Given the description of an element on the screen output the (x, y) to click on. 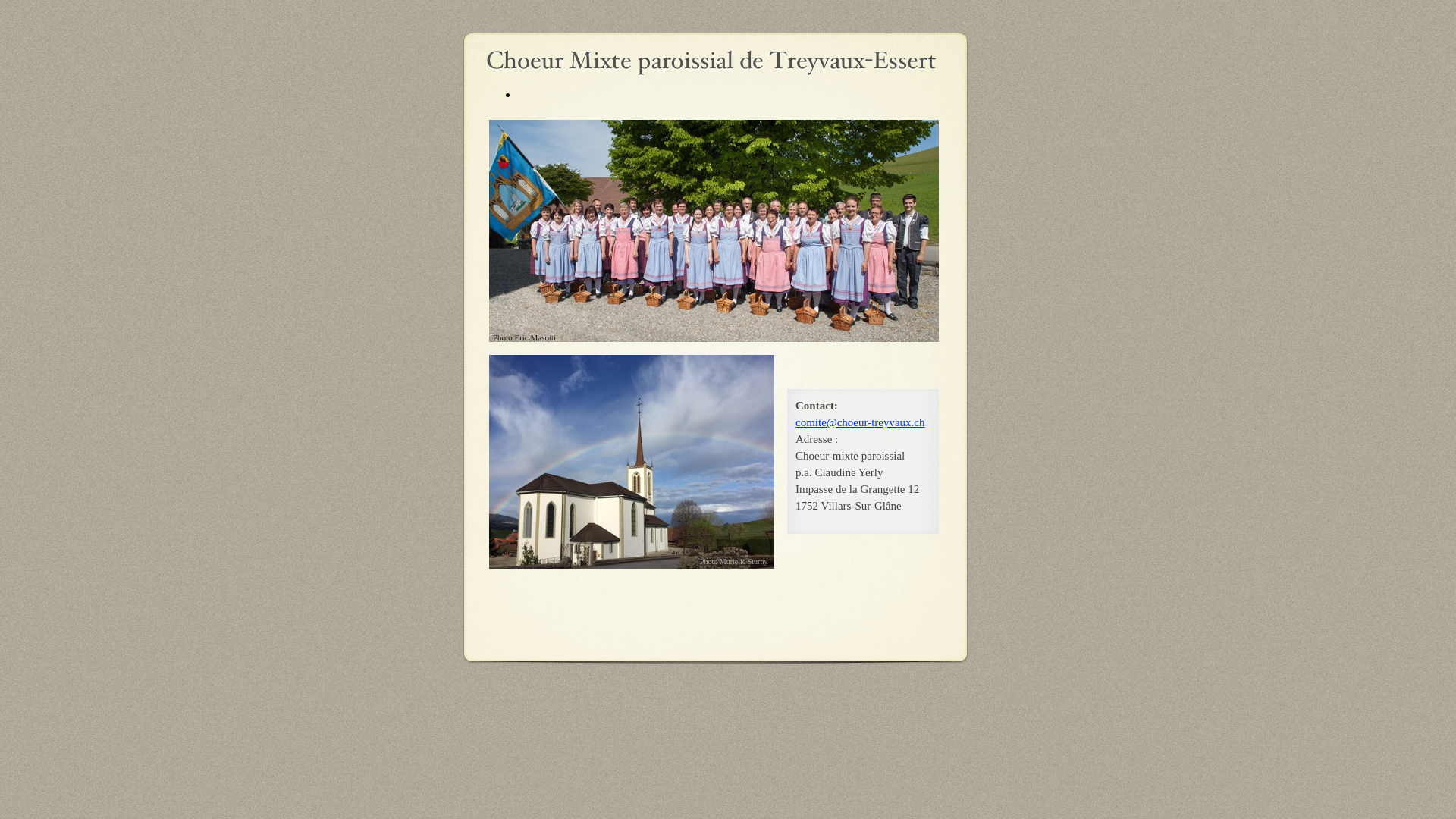
comite@choeur-treyvaux.ch Element type: text (860, 422)
